Given the description of an element on the screen output the (x, y) to click on. 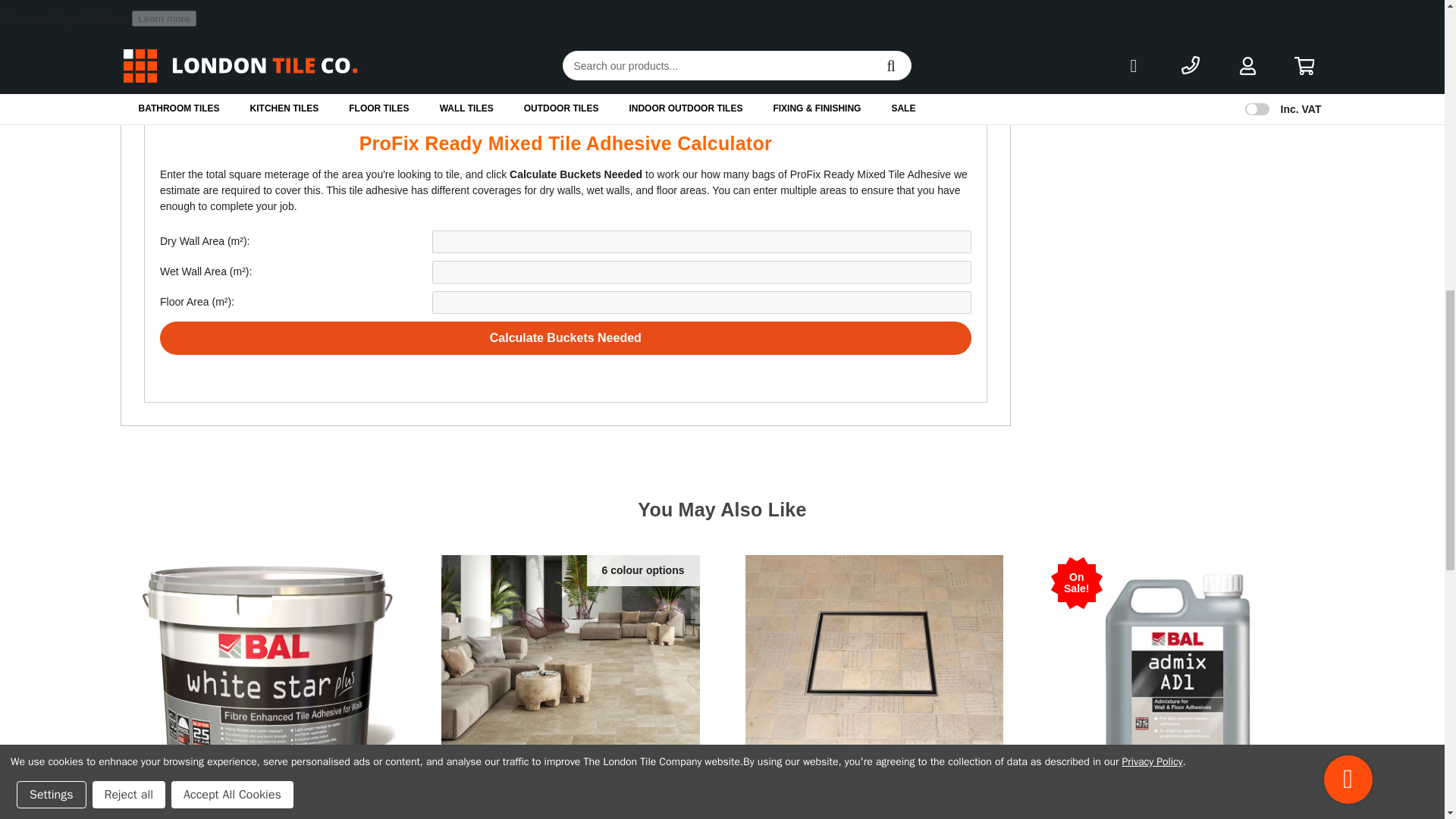
a 2.5 litre bottle of BAL AD1 tile adhesive Additive, (1177, 676)
Travertine effect floor tiles (569, 676)
A 10l tub of BAL White Star Plus Ready Mix Tile Adhesive (267, 676)
